Given the description of an element on the screen output the (x, y) to click on. 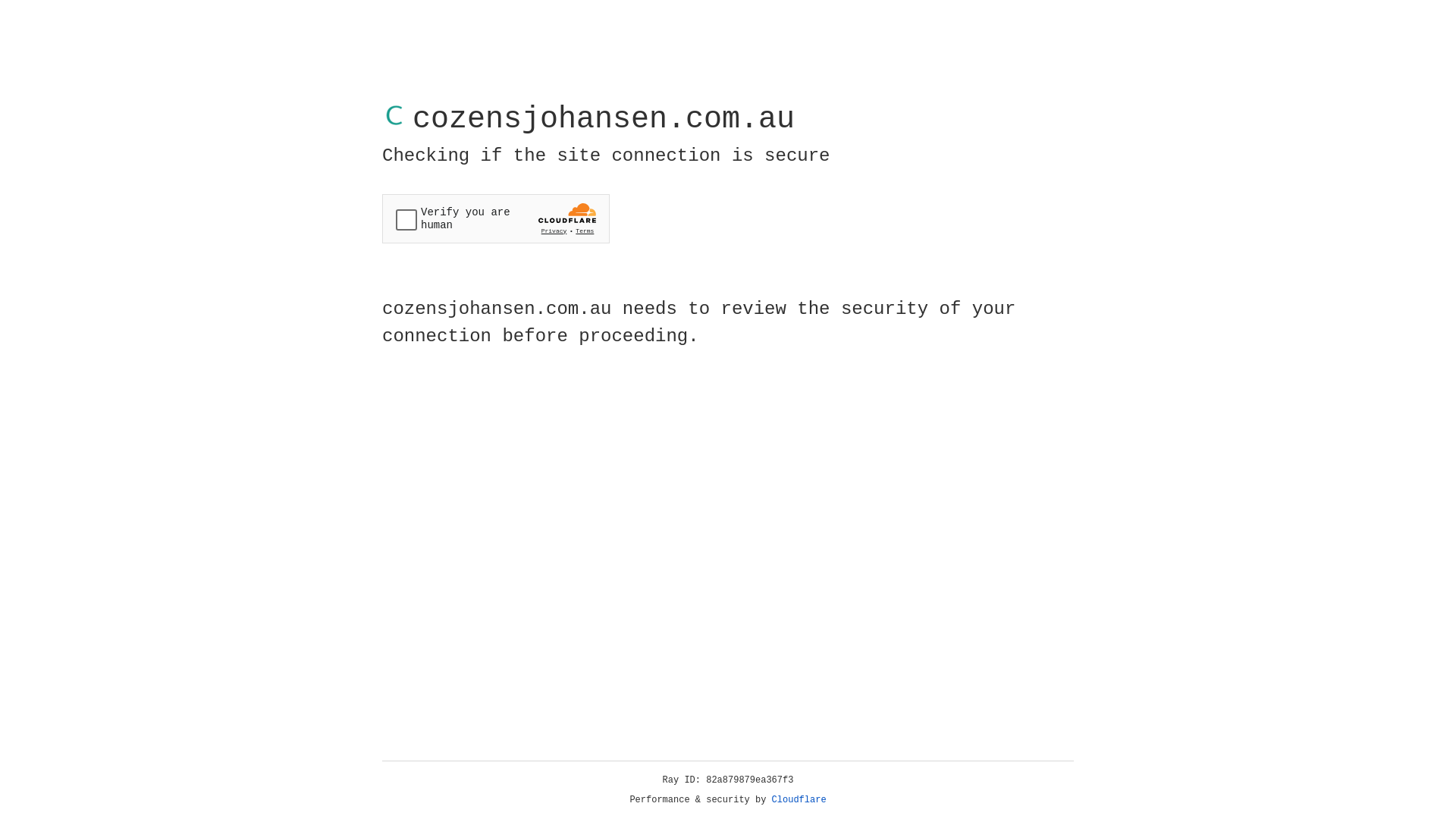
Cloudflare Element type: text (798, 799)
Widget containing a Cloudflare security challenge Element type: hover (495, 218)
